Given the description of an element on the screen output the (x, y) to click on. 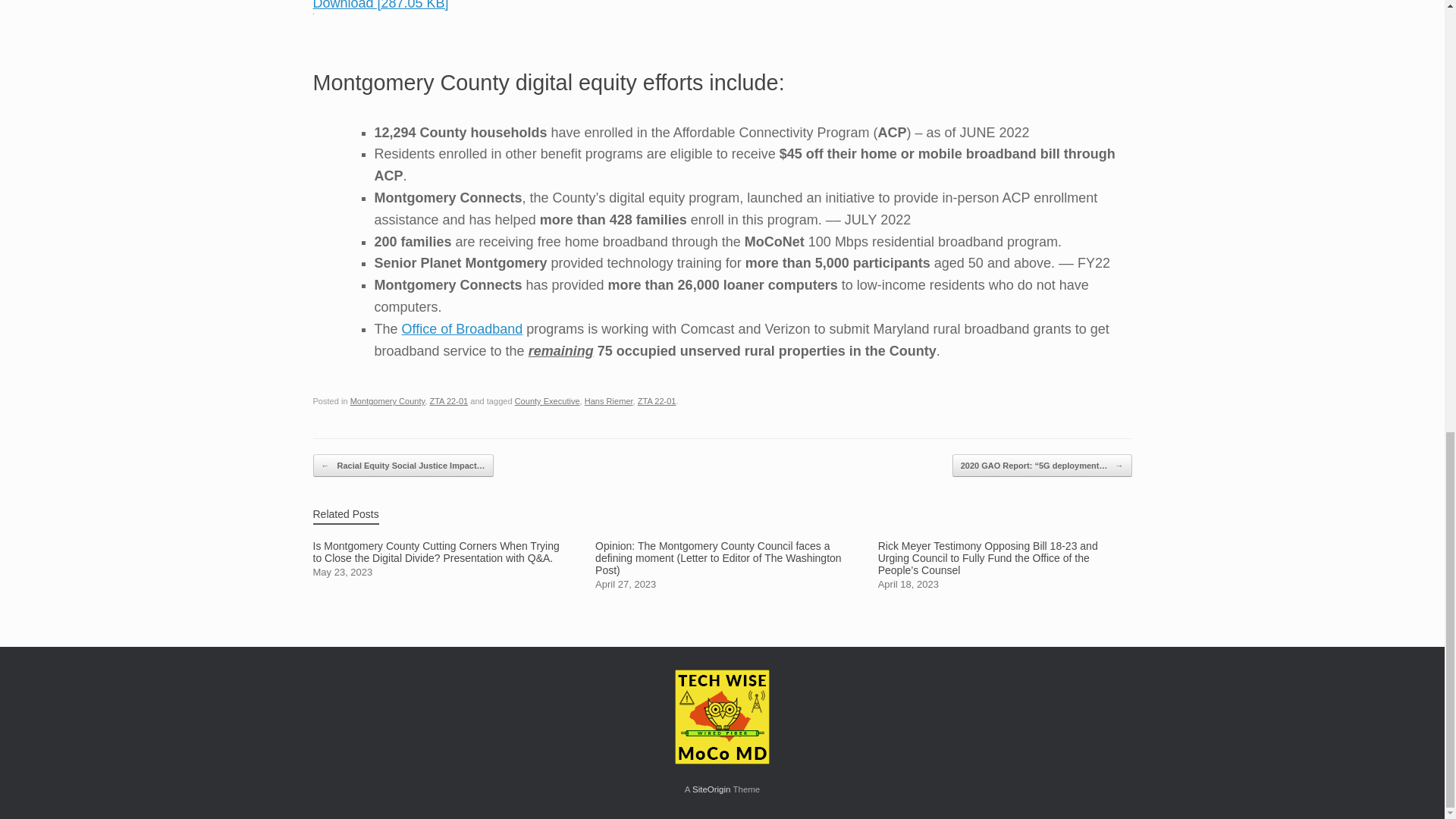
Office of Broadband (461, 328)
Tech-Wise-Montgomery-County-Maryland-logo-125 (722, 716)
ZTA 22-01 (448, 400)
County Executive (547, 400)
ZTA 22-01 (657, 400)
Montgomery County (387, 400)
Hans Riemer (609, 400)
